Given the description of an element on the screen output the (x, y) to click on. 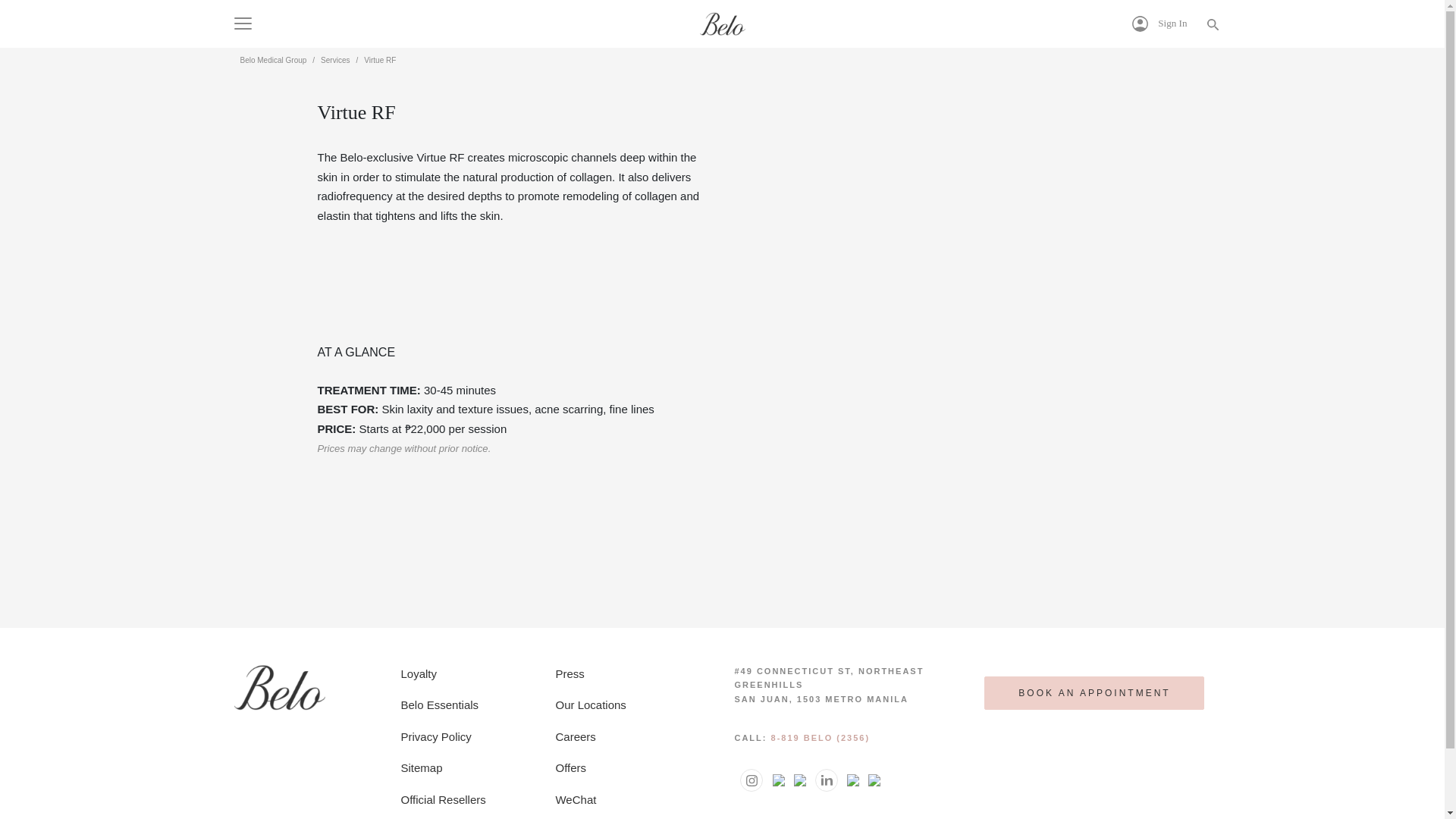
Go to Services. (334, 60)
Services (334, 60)
Belo Medical Group (272, 60)
Loyalty (418, 673)
Link to Belo Medical Group Home page (278, 685)
Go to Belo Medical Group. (272, 60)
Sign In (1161, 24)
